Given the description of an element on the screen output the (x, y) to click on. 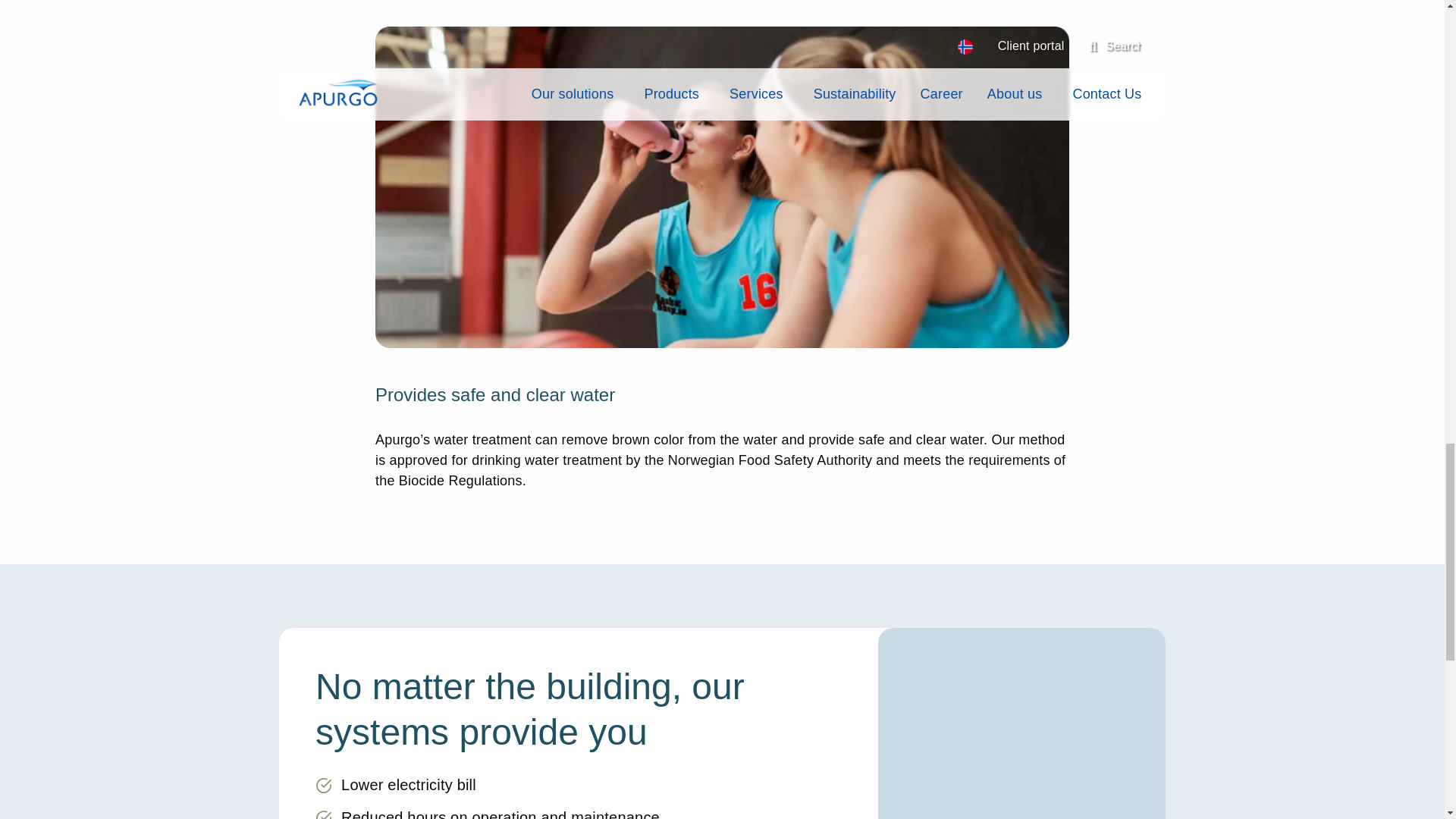
Form 0 (1021, 735)
